Given the description of an element on the screen output the (x, y) to click on. 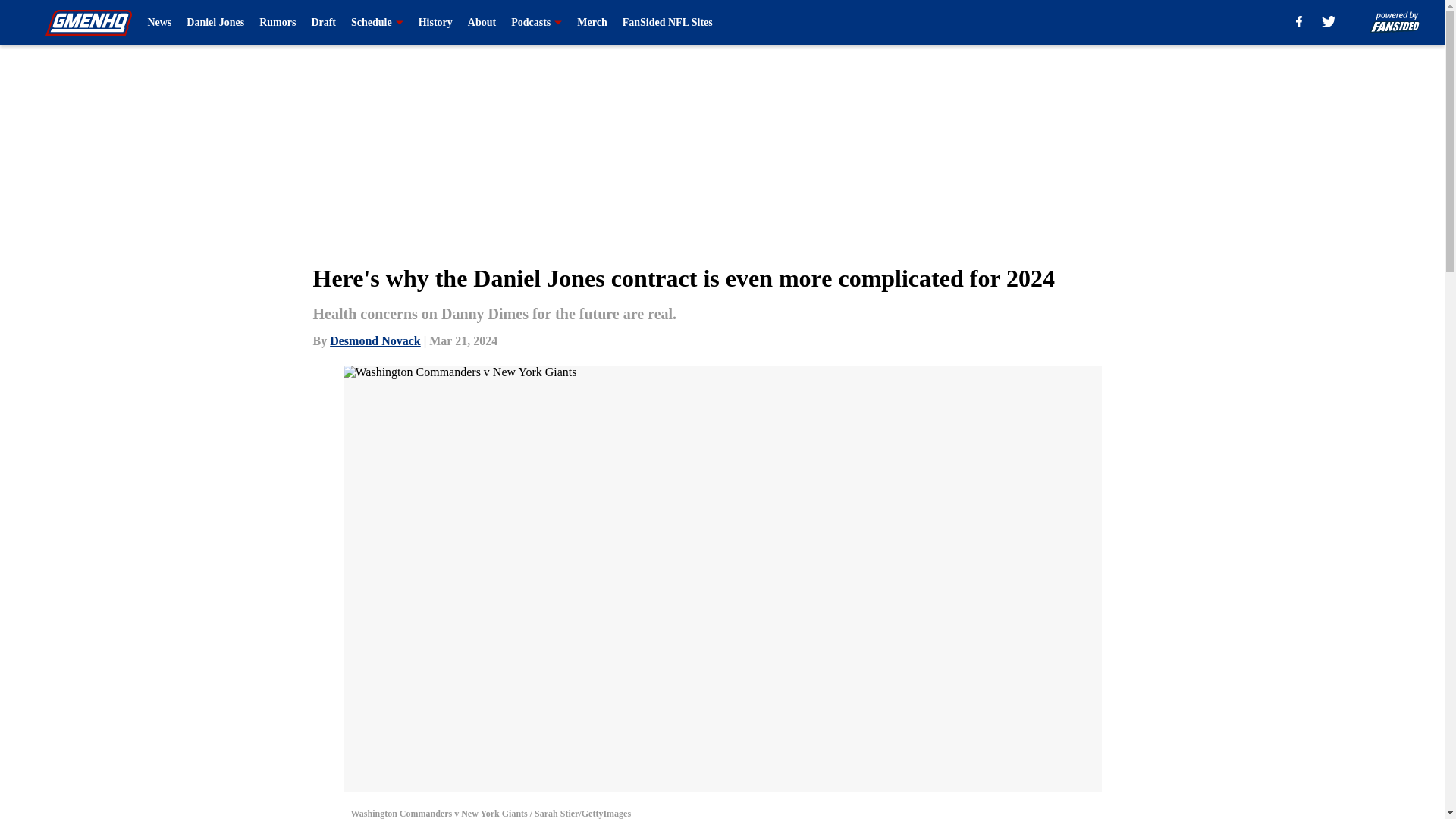
News (159, 22)
Desmond Novack (375, 340)
Draft (323, 22)
FanSided NFL Sites (668, 22)
About (481, 22)
Rumors (277, 22)
Daniel Jones (215, 22)
Merch (591, 22)
History (435, 22)
